Given the description of an element on the screen output the (x, y) to click on. 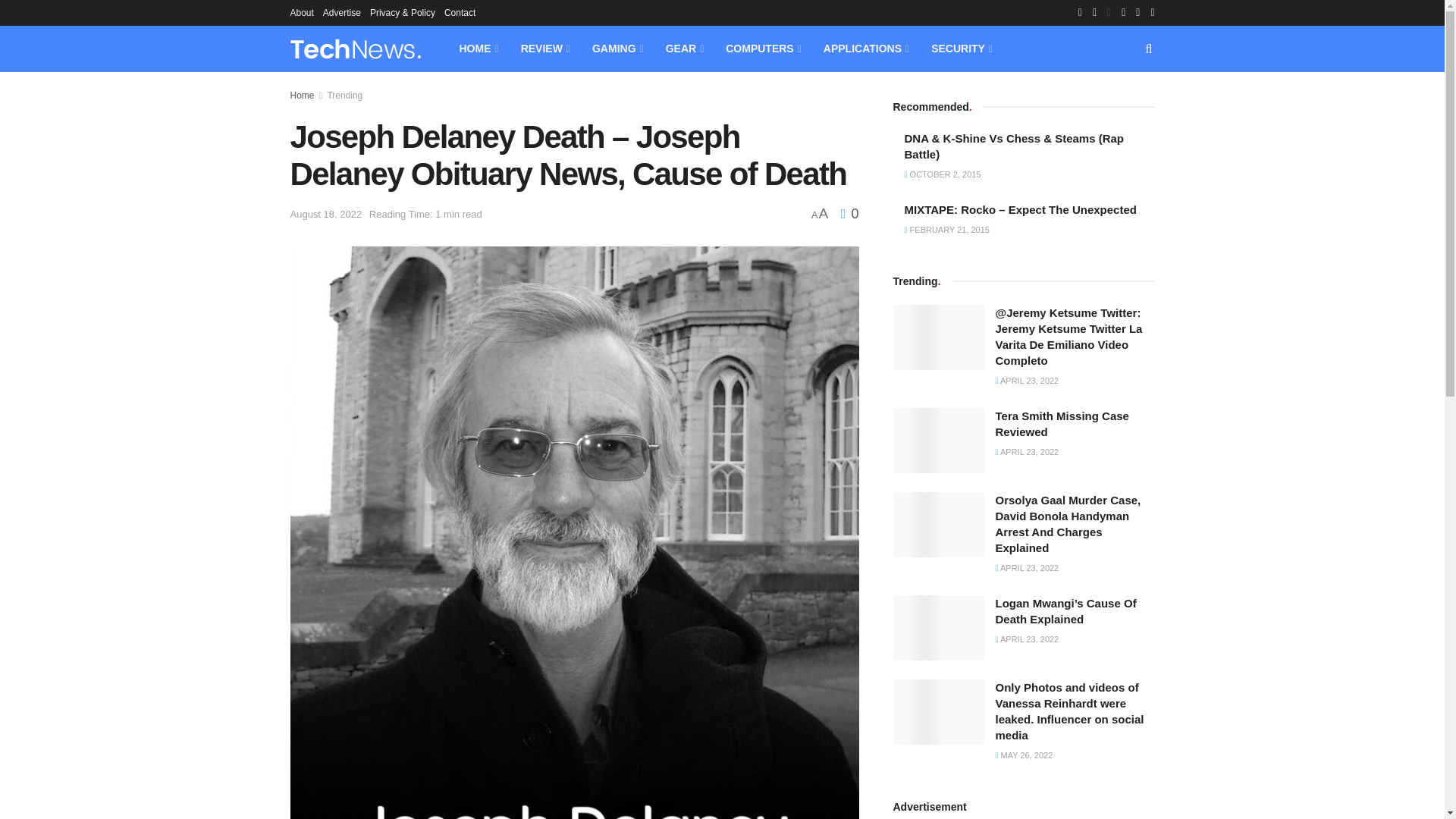
GEAR (683, 48)
GAMING (616, 48)
REVIEW (543, 48)
HOME (477, 48)
Advertise (342, 12)
About (301, 12)
Contact (460, 12)
